Given the description of an element on the screen output the (x, y) to click on. 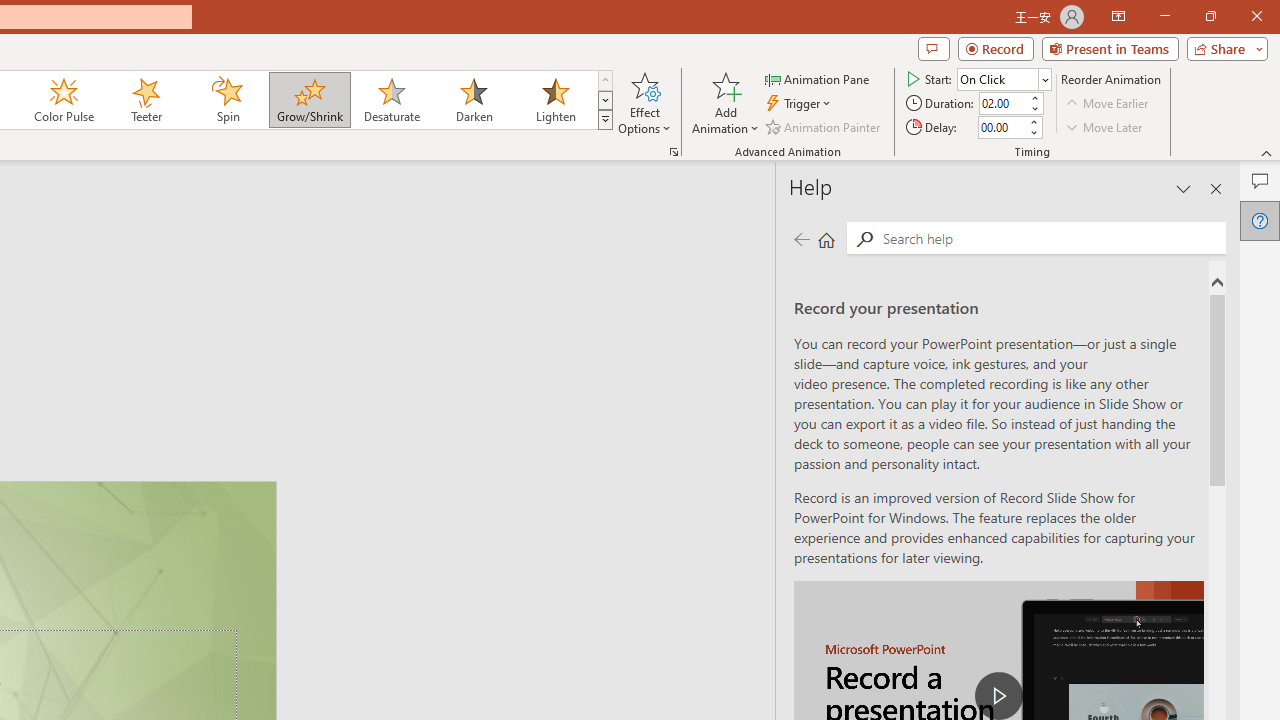
Grow/Shrink (309, 100)
Color Pulse (63, 100)
Animation Pane (818, 78)
Move Earlier (1107, 103)
Spin (227, 100)
Animation Delay (1002, 127)
Lighten (555, 100)
Desaturate (391, 100)
